Given the description of an element on the screen output the (x, y) to click on. 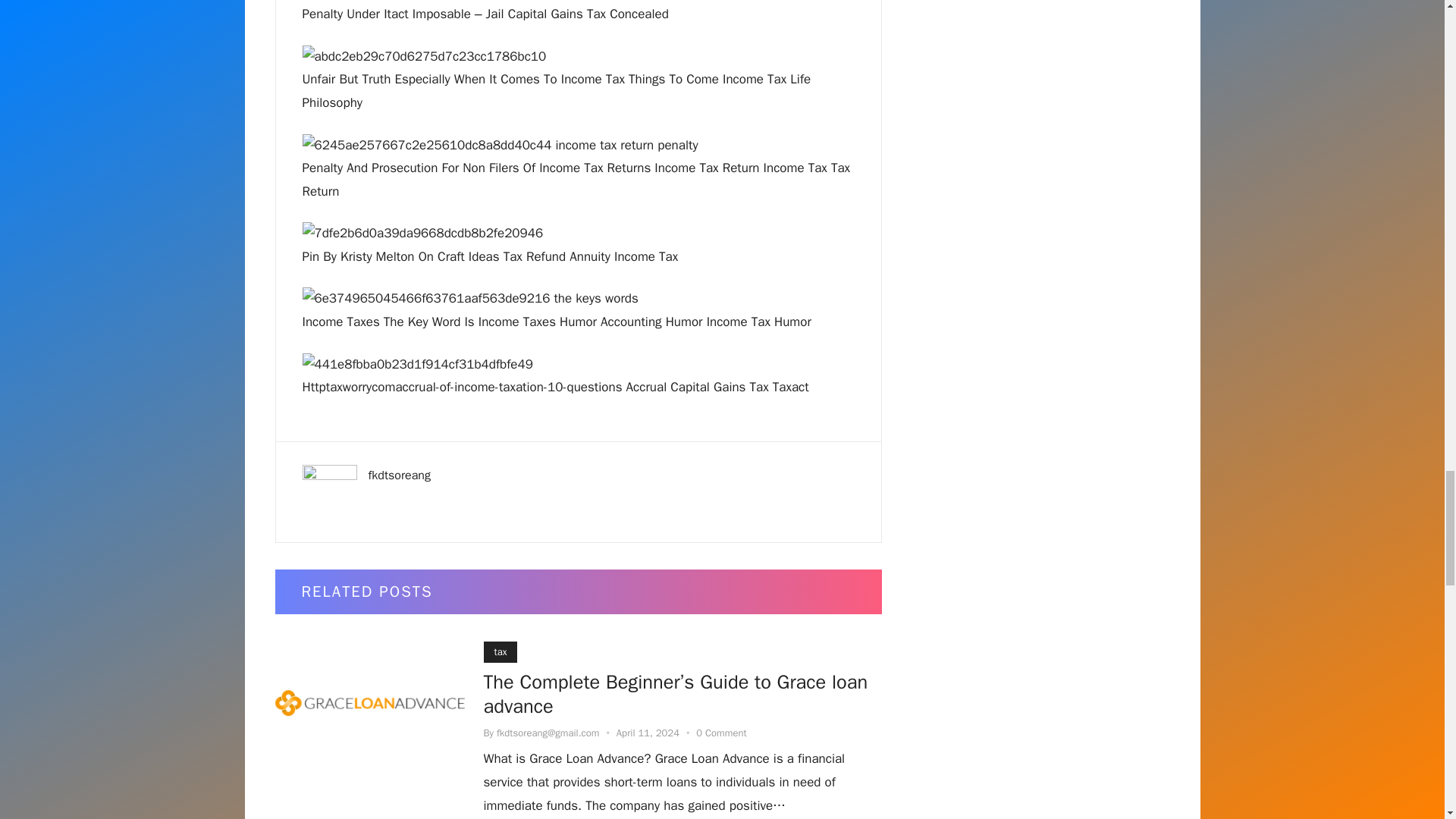
fkdtsoreang (399, 475)
0 Comment (720, 732)
tax (500, 651)
